Given the description of an element on the screen output the (x, y) to click on. 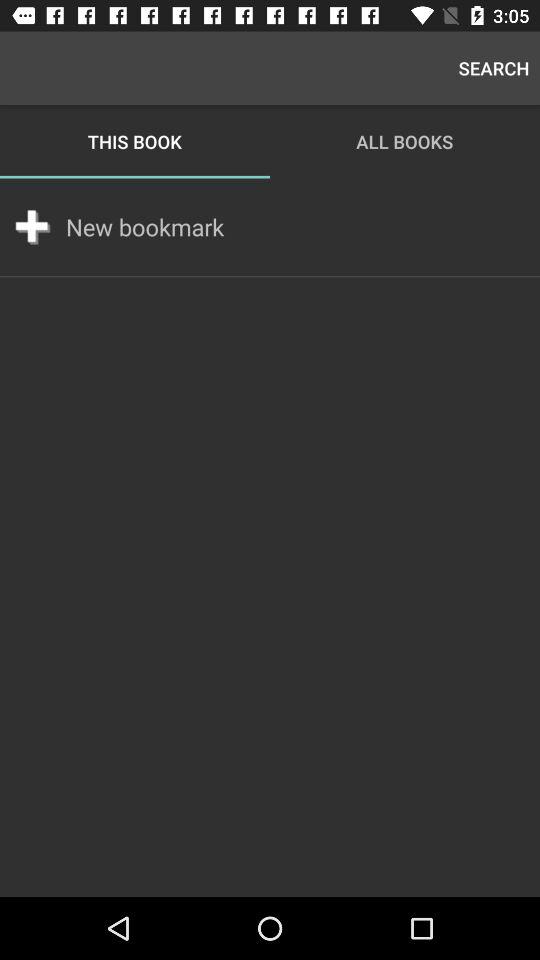
turn off app to the right of this book icon (494, 67)
